Given the description of an element on the screen output the (x, y) to click on. 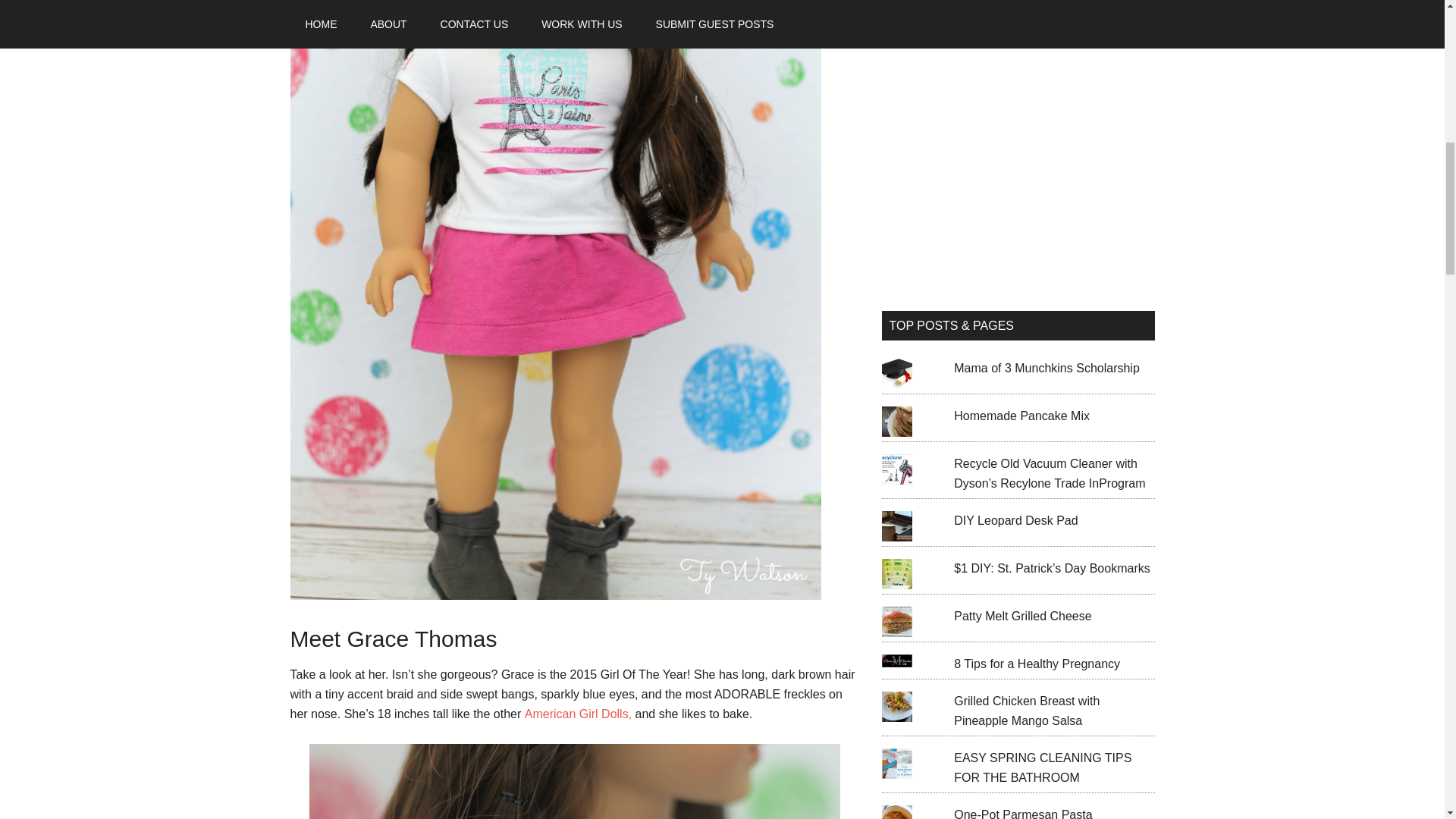
Mama of 3 Munchkins Scholarship (1046, 367)
Patty Melt Grilled Cheese (1021, 615)
Homemade Pancake Mix (1021, 415)
Mama of 3 Munchkins Scholarship (1046, 367)
8 Tips for a Healthy Pregnancy (1036, 663)
Advertisement (1017, 168)
DIY Leopard Desk Pad (1015, 520)
American Girl Doll Grace (574, 781)
American Girl Dolls, (577, 713)
Homemade Pancake Mix (1021, 415)
